Given the description of an element on the screen output the (x, y) to click on. 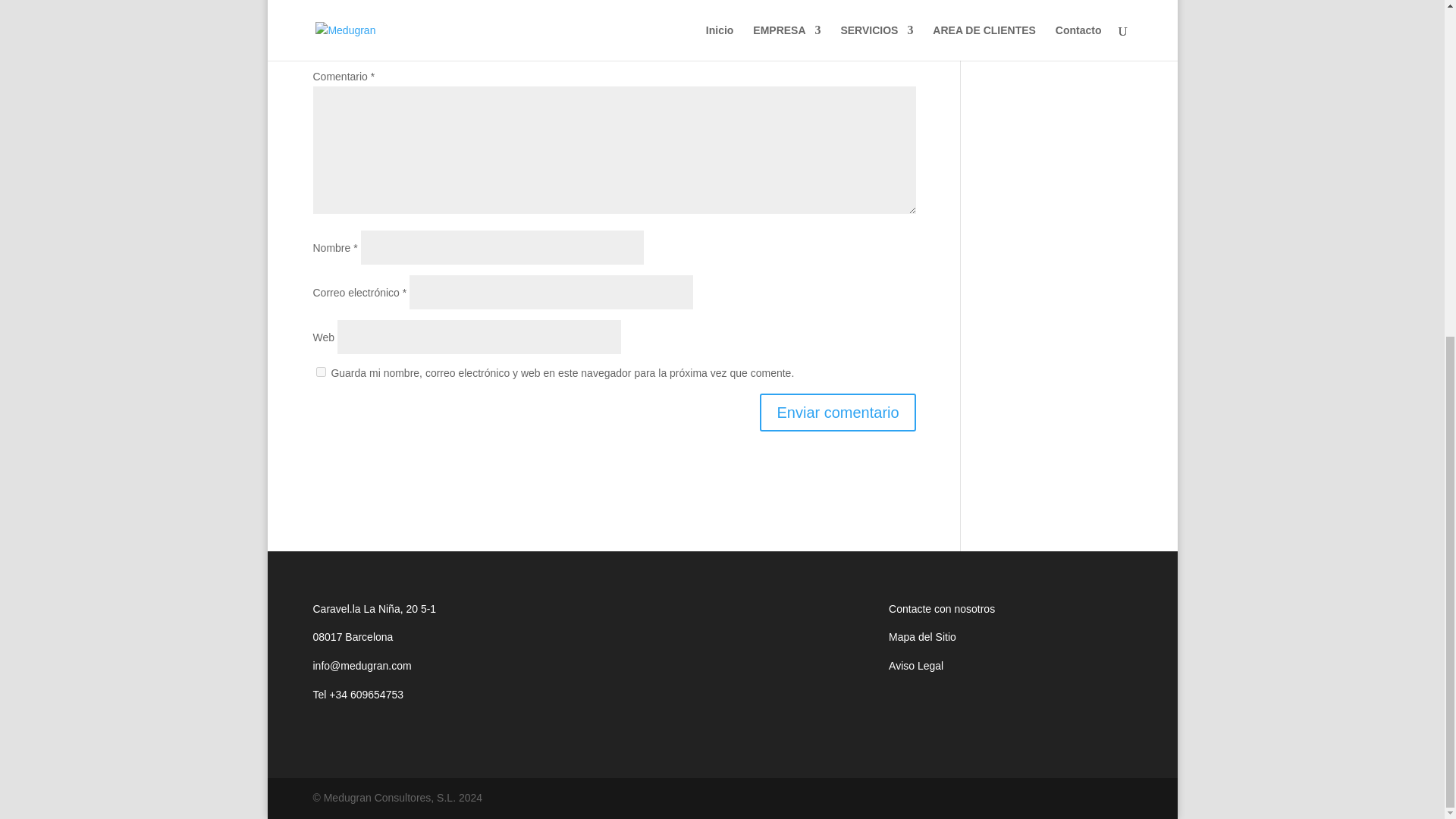
Enviar comentario (837, 412)
Aviso Legal (915, 665)
Contacte con nosotros (941, 608)
Mapa del Sitio (922, 636)
yes (319, 371)
Enviar comentario (837, 412)
